Given the description of an element on the screen output the (x, y) to click on. 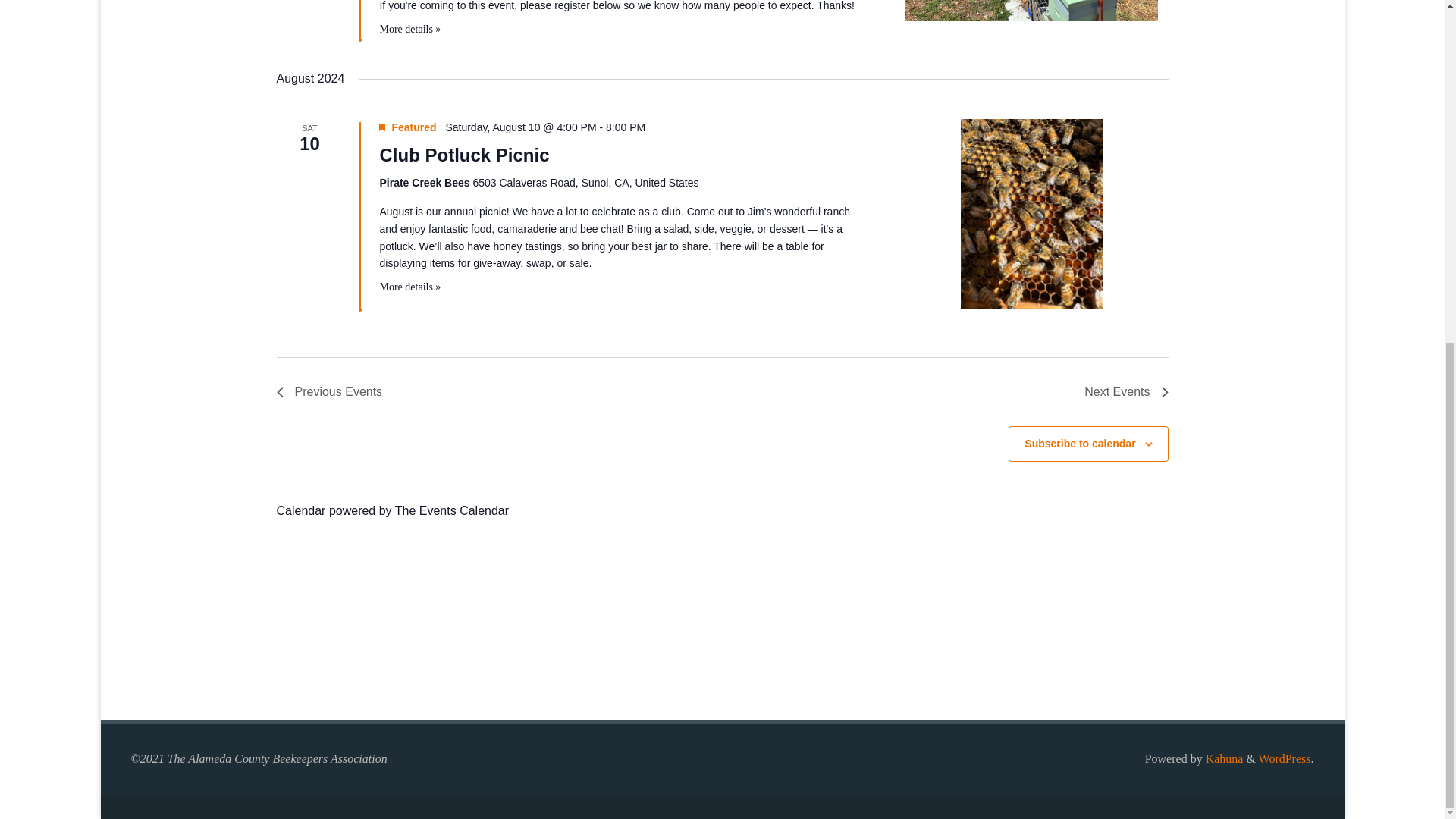
Club Potluck Picnic (1031, 213)
Hive inspection for beginners (1031, 10)
